Given the description of an element on the screen output the (x, y) to click on. 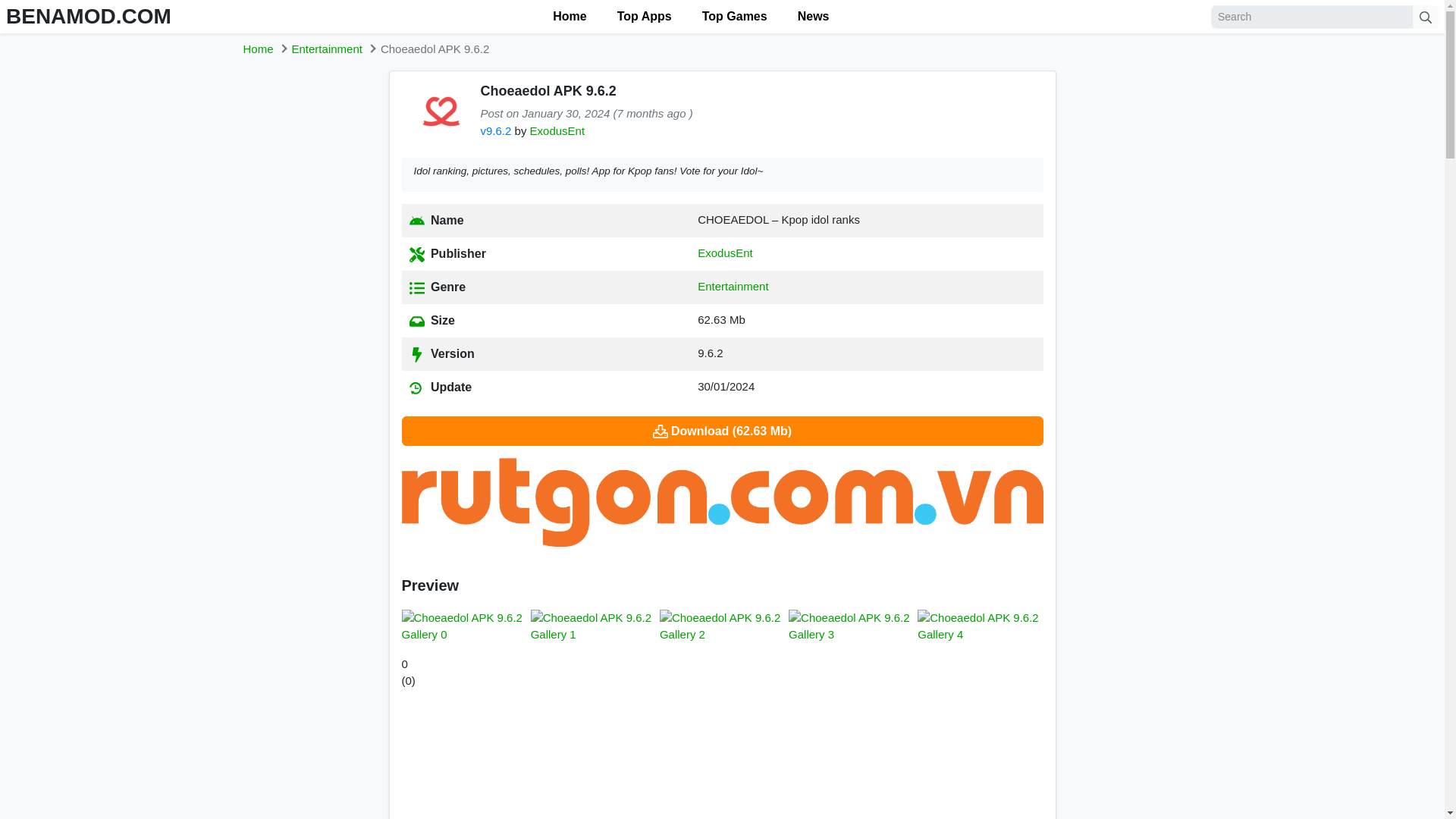
ExodusEnt (557, 130)
Choeaedol APK 9.6.2 Gallery 0 (464, 626)
Choeaedol APK 9.6.2 Gallery 4 (979, 626)
Choeaedol APK 9.6.2 Gallery 2 (721, 626)
Developer by ExodusEnt (557, 130)
Choeaedol APK 9.6.2 Gallery 1 (593, 626)
Entertainment (327, 48)
News (813, 16)
Home (258, 48)
BENAMOD.COM (88, 15)
